Given the description of an element on the screen output the (x, y) to click on. 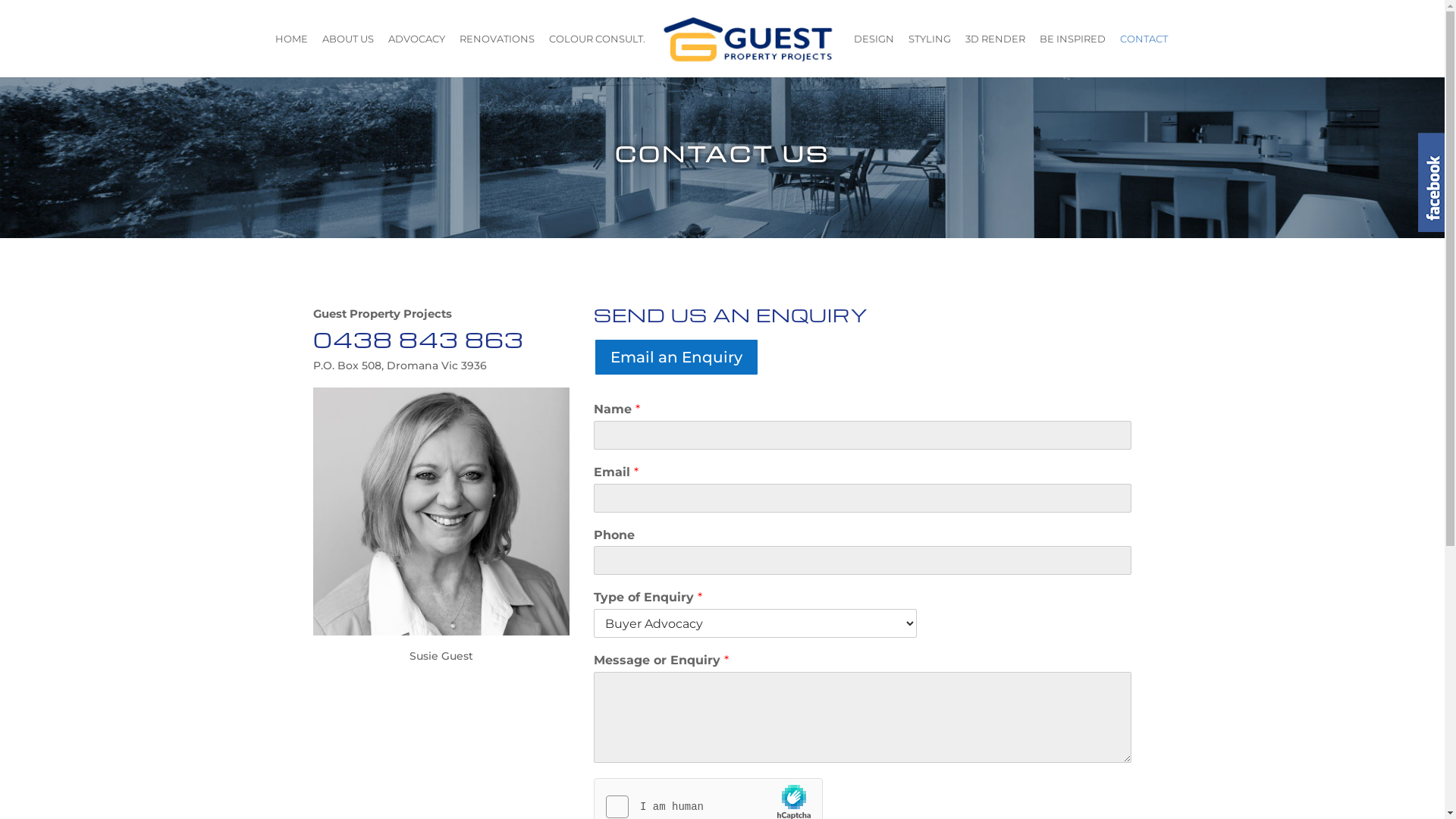
RENOVATIONS Element type: text (496, 55)
COLOUR CONSULT. Element type: text (597, 55)
ABOUT US Element type: text (347, 55)
DESIGN Element type: text (873, 55)
Email an Enquiry Element type: text (676, 357)
ADVOCACY Element type: text (416, 55)
HOME Element type: text (291, 55)
STYLING Element type: text (929, 55)
3D RENDER Element type: text (995, 55)
BE INSPIRED Element type: text (1072, 55)
CONTACT Element type: text (1143, 55)
